Given the description of an element on the screen output the (x, y) to click on. 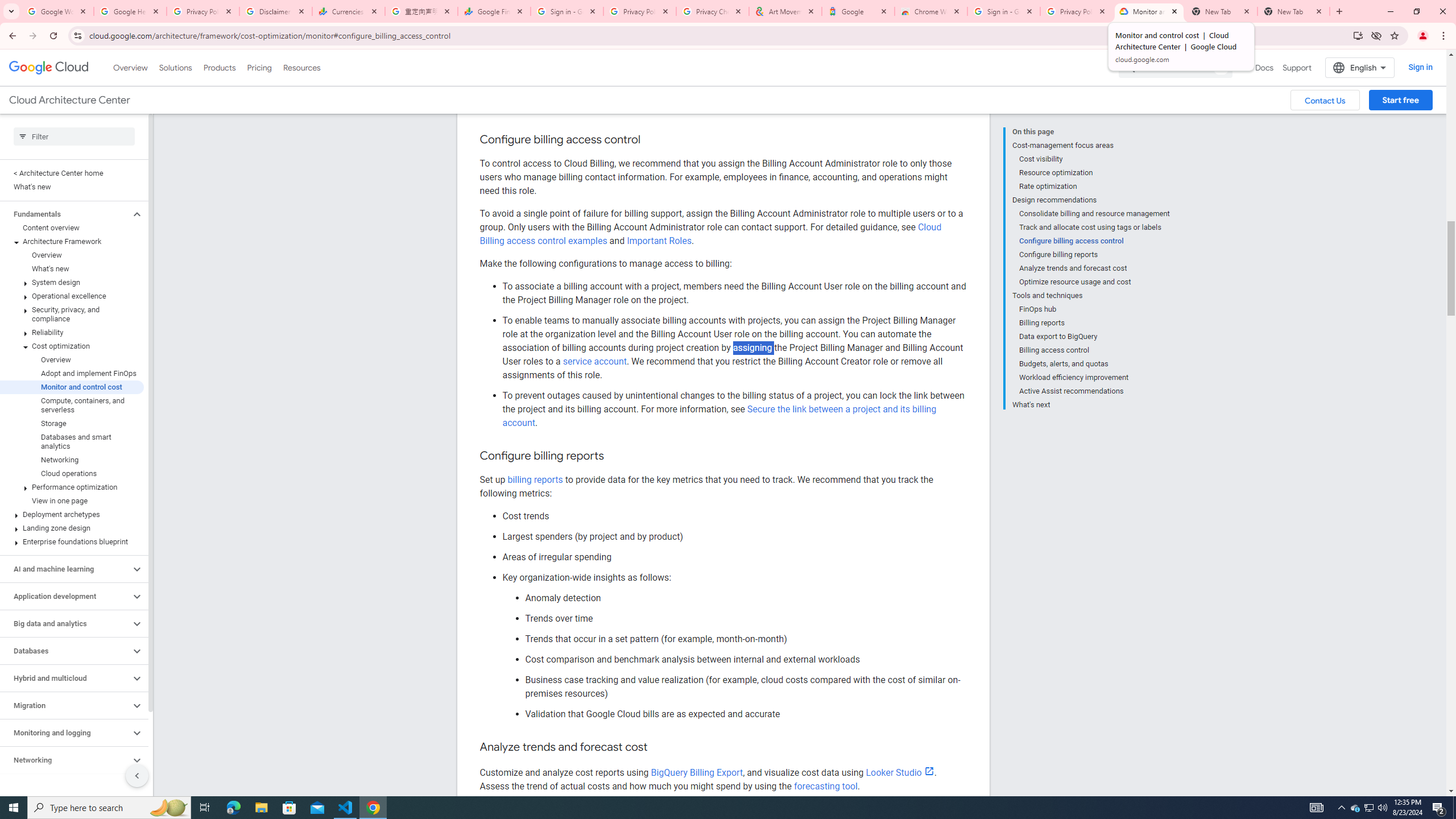
Contact Us (1324, 100)
Consolidate billing and resource management (1094, 213)
Copy link to this section: Analyze trends and forecast cost (659, 747)
Compute, containers, and serverless (72, 404)
Resource optimization (1094, 172)
Pricing (259, 67)
Track and allocate cost using tags or labels (1094, 227)
Performance optimization (72, 486)
